Given the description of an element on the screen output the (x, y) to click on. 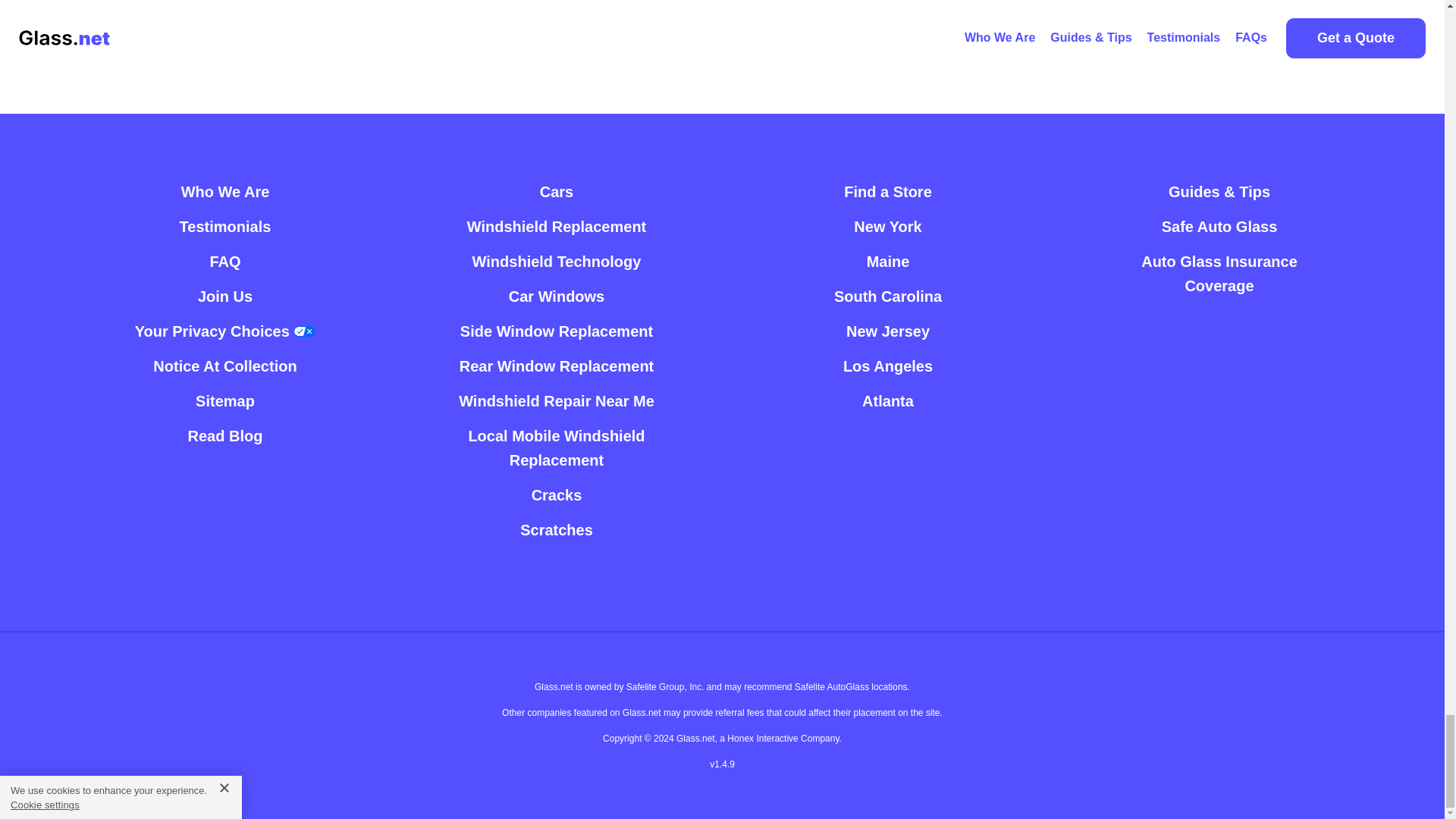
Windshield Replacement (556, 226)
Notice At Collection  (224, 366)
Testimonials (224, 226)
Repair or Replace Auto Glass By Car Make (556, 191)
FAQ (224, 261)
Cars (556, 191)
Notice At Collection (224, 366)
Windshield Technology (556, 261)
 Local Windshield Replacement (556, 226)
Rear Window Replacement (556, 366)
Your Privacy Choices (225, 330)
Glass.NET Website Sitemap  (224, 401)
Testimonials (224, 226)
Car Windows (556, 296)
A Market Place for Car Glass (224, 191)
